Given the description of an element on the screen output the (x, y) to click on. 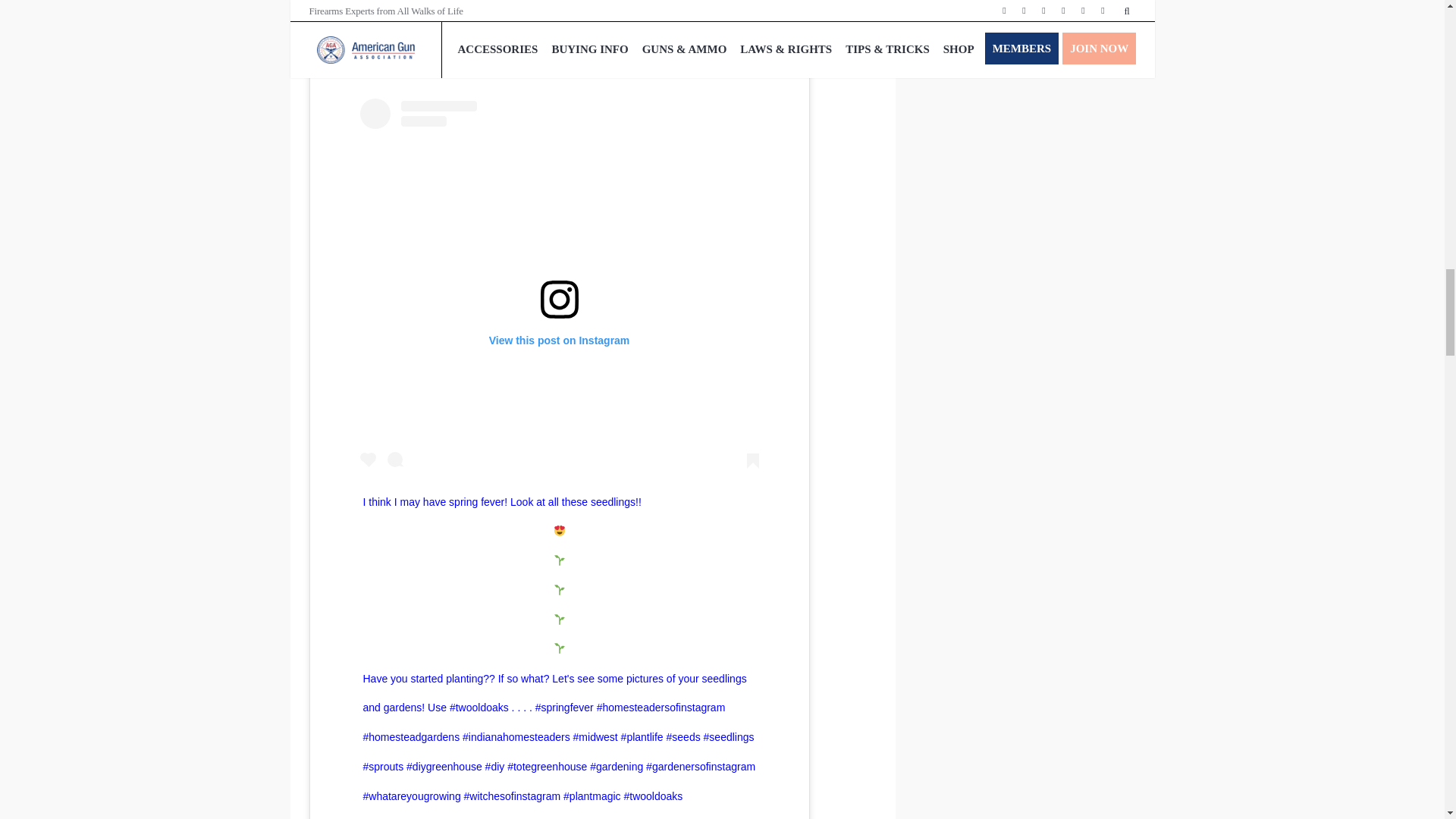
The Art of Seed Saving (440, 4)
